Given the description of an element on the screen output the (x, y) to click on. 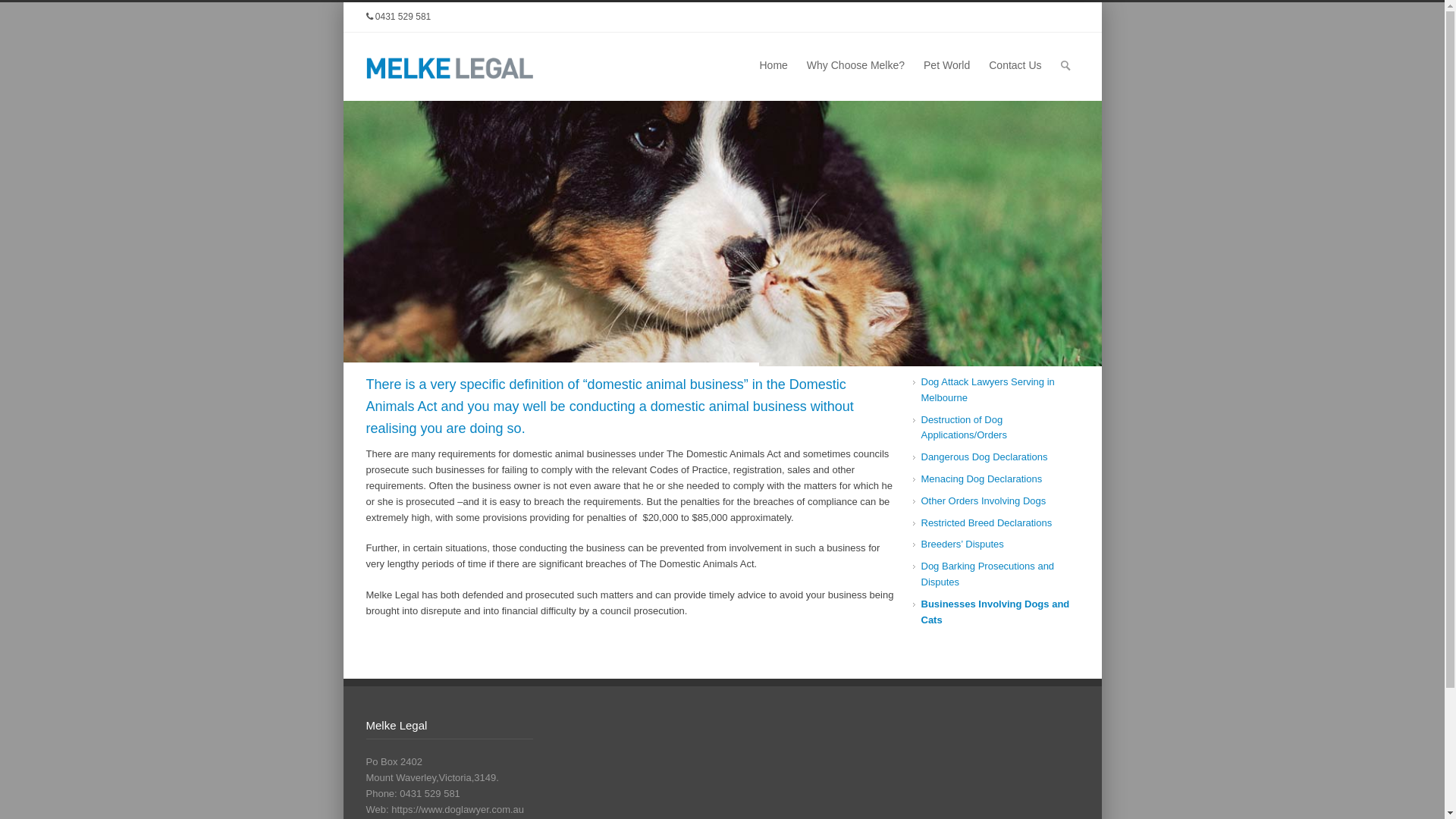
Pet World Element type: text (946, 66)
Dog Barking Prosecutions and Disputes Element type: text (987, 573)
Other Orders Involving Dogs Element type: text (982, 500)
Businesses Involving Dogs and Cats Element type: text (994, 611)
Menacing Dog Declarations Element type: text (980, 478)
Dangerous Dog Declarations Element type: text (983, 456)
Destruction of Dog Applications/Orders Element type: text (963, 427)
Why Choose Melke? Element type: text (855, 66)
Search Element type: text (12, 10)
Home Element type: text (772, 66)
Restricted Breed Declarations Element type: text (985, 522)
Dog Attack Lawyers Serving in Melbourne Element type: text (987, 389)
https://www.doglawyer.com.au Element type: text (457, 809)
Contact Us Element type: text (1014, 66)
